Given the description of an element on the screen output the (x, y) to click on. 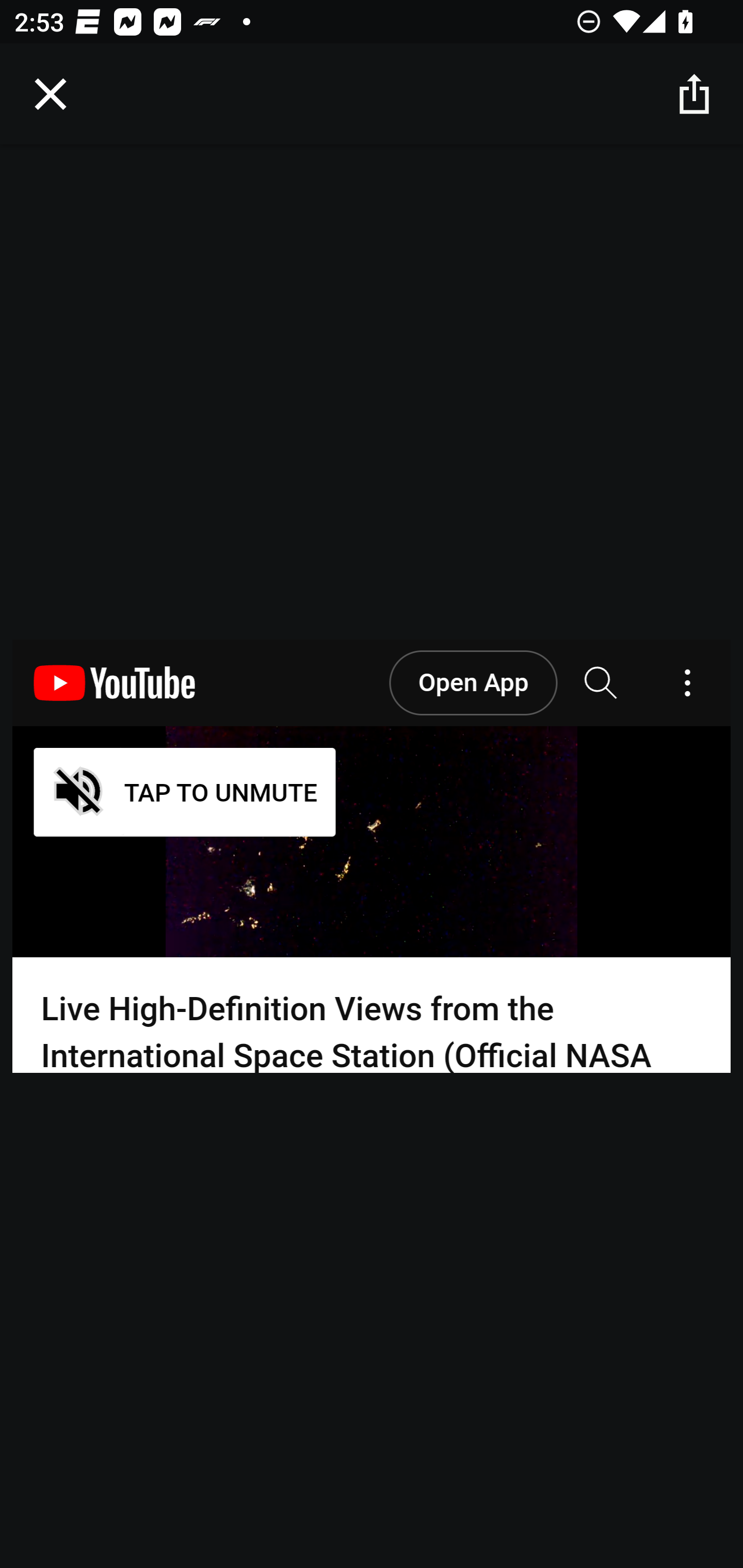
YouTube (114, 683)
Search YouTube (601, 683)
Account (687, 683)
Open App (472, 682)
TAP TO UNMUTE (184, 792)
